Given the description of an element on the screen output the (x, y) to click on. 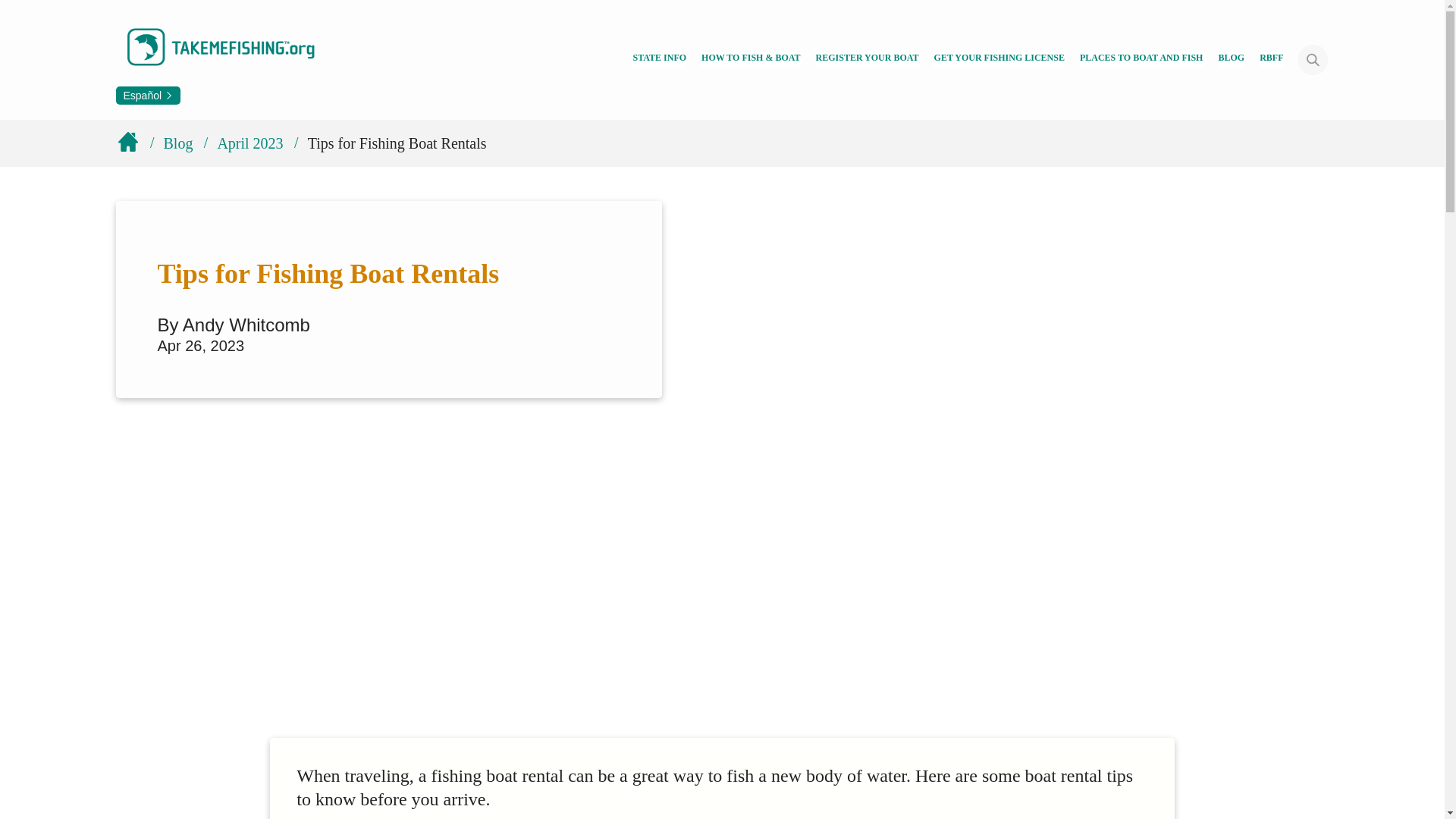
Blog (1230, 59)
GET YOUR FISHING LICENSE (999, 59)
BLOG (1230, 59)
PLACES TO BOAT AND FISH (1142, 59)
Places To Boat And Fish (1142, 59)
RBFF (1270, 59)
Get Your Fishing License (999, 59)
Register Your Boat (866, 59)
RBFF (1270, 59)
REGISTER YOUR BOAT (866, 59)
